Given the description of an element on the screen output the (x, y) to click on. 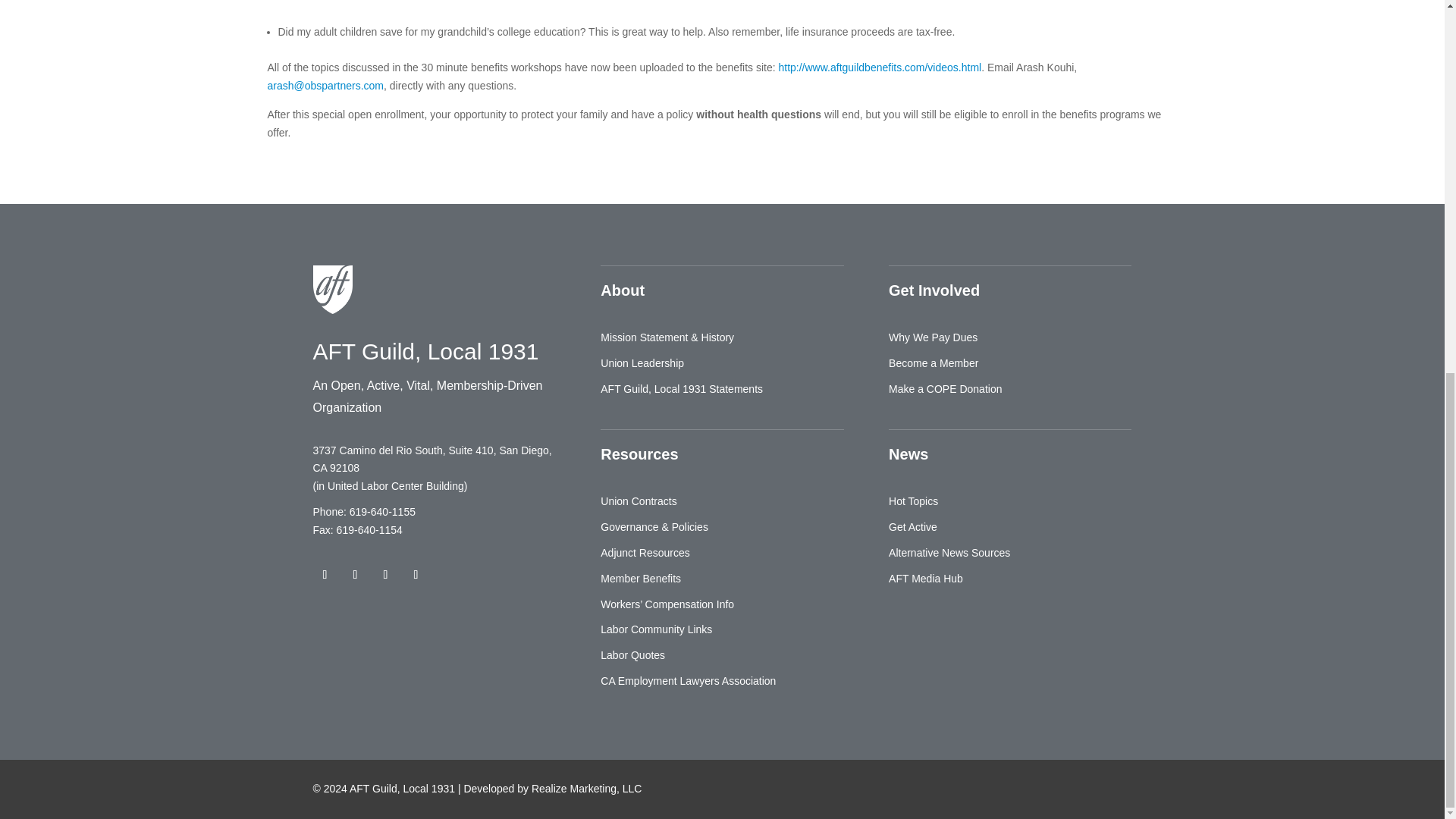
Follow on Facebook (324, 574)
Follow on Facebook (354, 574)
Follow on X (384, 574)
Follow on Instagram (415, 574)
